Given the description of an element on the screen output the (x, y) to click on. 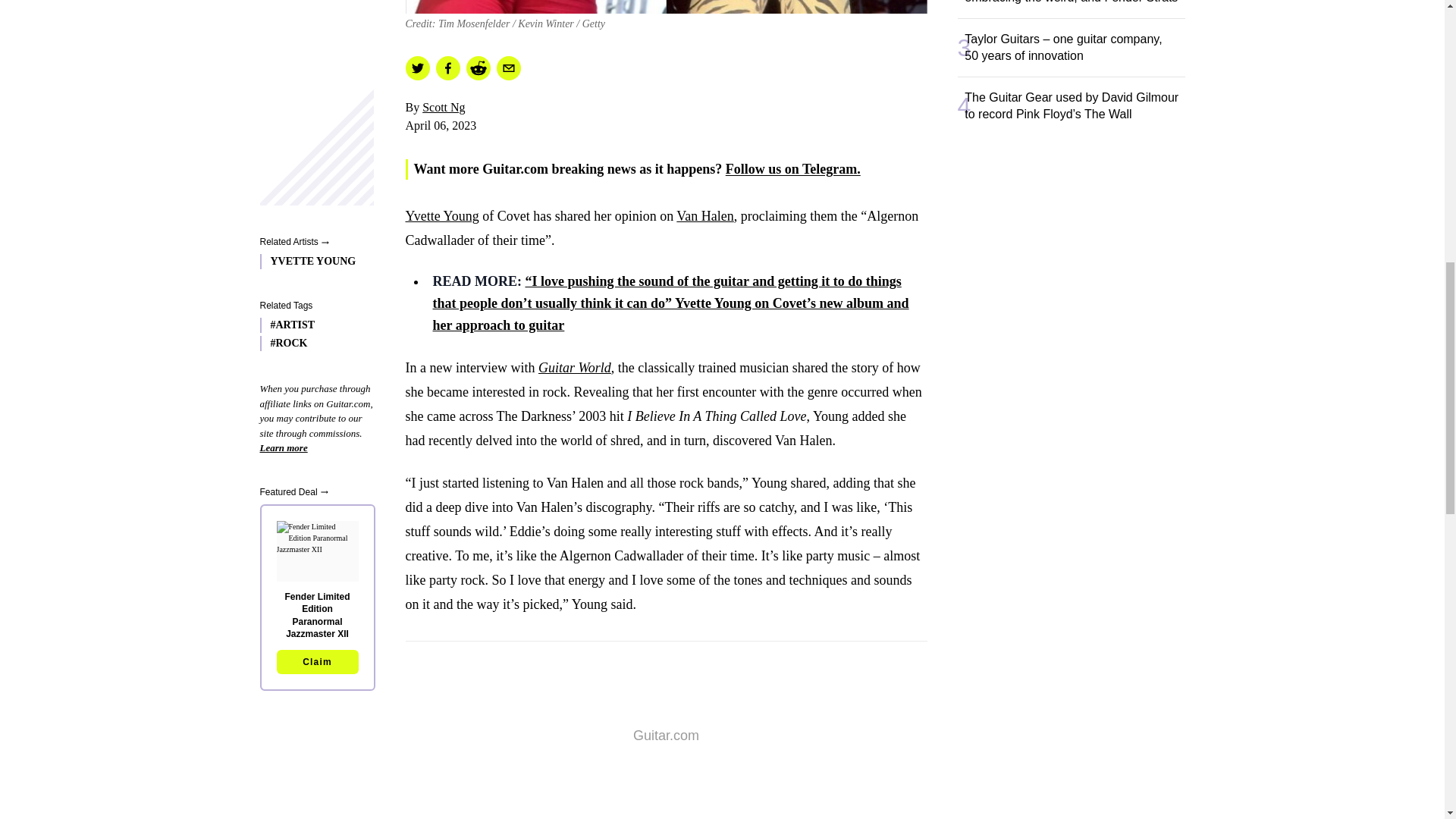
Scott Ng (443, 106)
Van Halen (705, 215)
Claim (317, 77)
Yvette Young (441, 215)
Published April 6, 2023 8:54AM (665, 126)
Guitar World (574, 367)
